Given the description of an element on the screen output the (x, y) to click on. 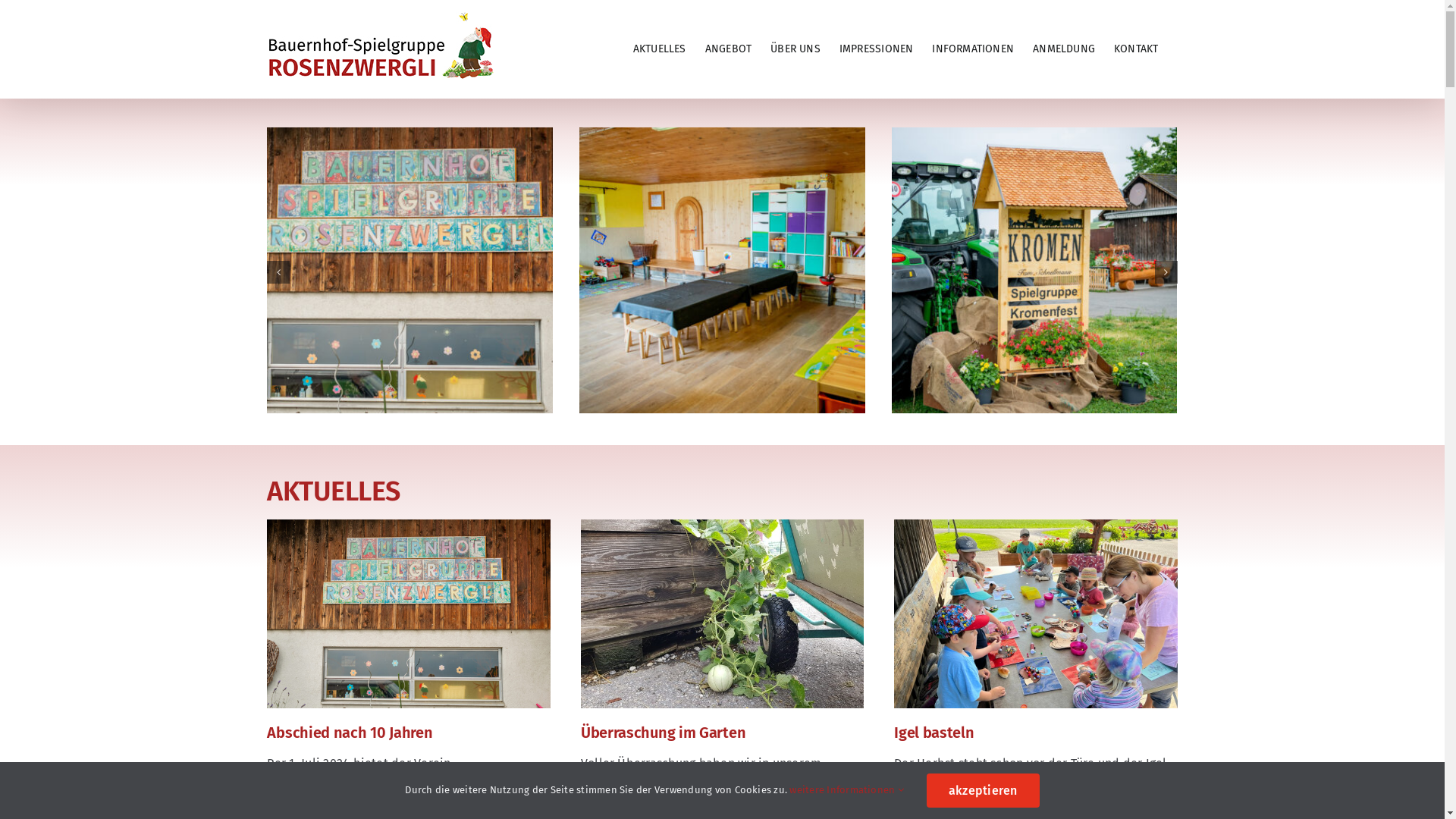
KONTAKT Element type: text (1135, 49)
INFORMATIONEN Element type: text (972, 49)
Abschied nach 10 Jahren Element type: text (349, 732)
Igel basteln Element type: text (933, 732)
weitere Informationen Element type: text (846, 789)
ANMELDUNG Element type: text (1063, 49)
akzeptieren Element type: text (982, 790)
AKTUELLES Element type: text (659, 49)
IMPRESSIONEN Element type: text (876, 49)
ANGEBOT Element type: text (728, 49)
